Given the description of an element on the screen output the (x, y) to click on. 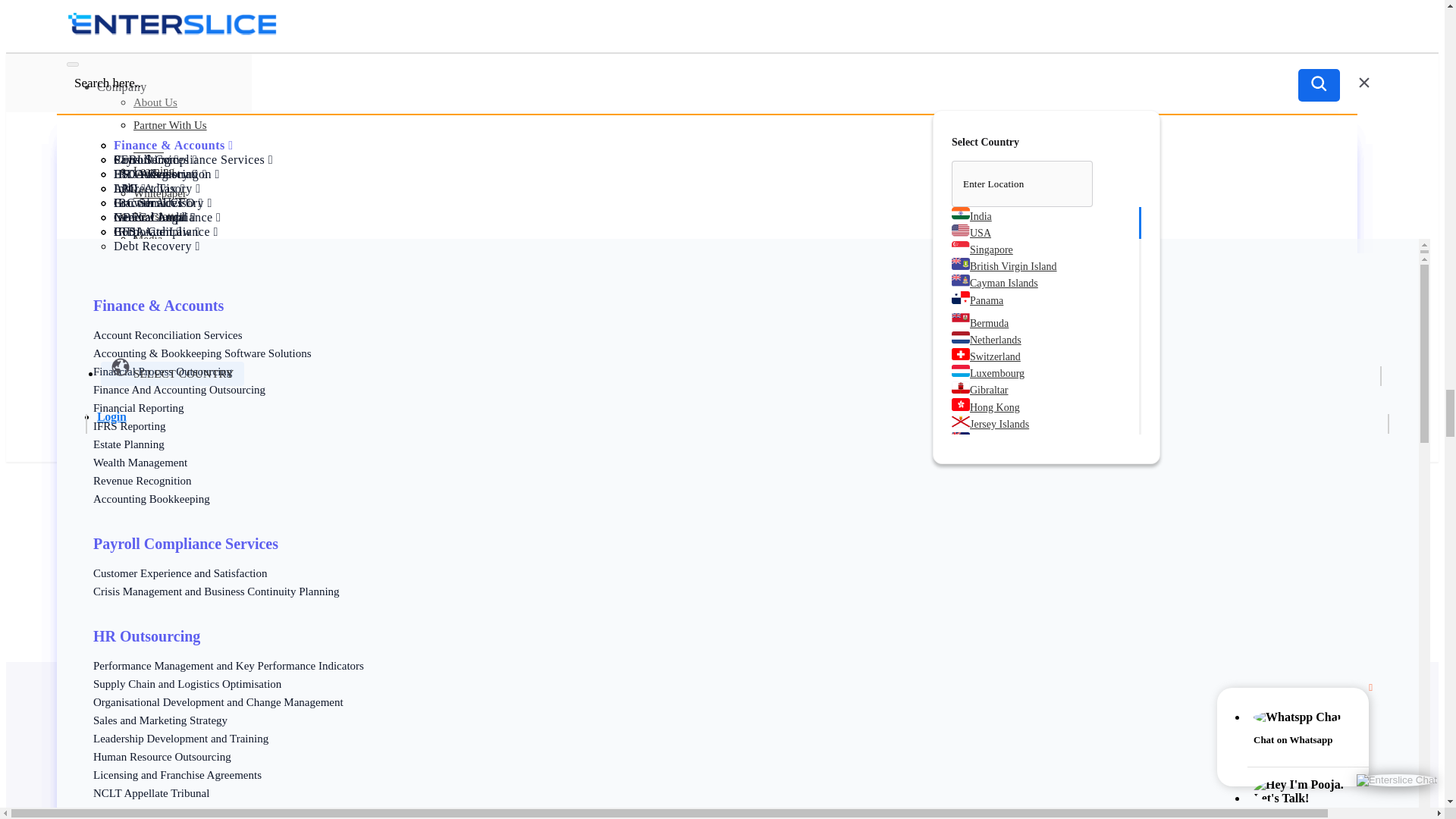
davinta (90, 559)
Razorpay (95, 613)
fia global (95, 545)
Acme Solar (101, 627)
First Cry (94, 641)
Herbal Life Nutrition (124, 586)
justdial (90, 531)
Taj Hotels (97, 600)
milton (88, 572)
spiinny (90, 504)
